Given the description of an element on the screen output the (x, y) to click on. 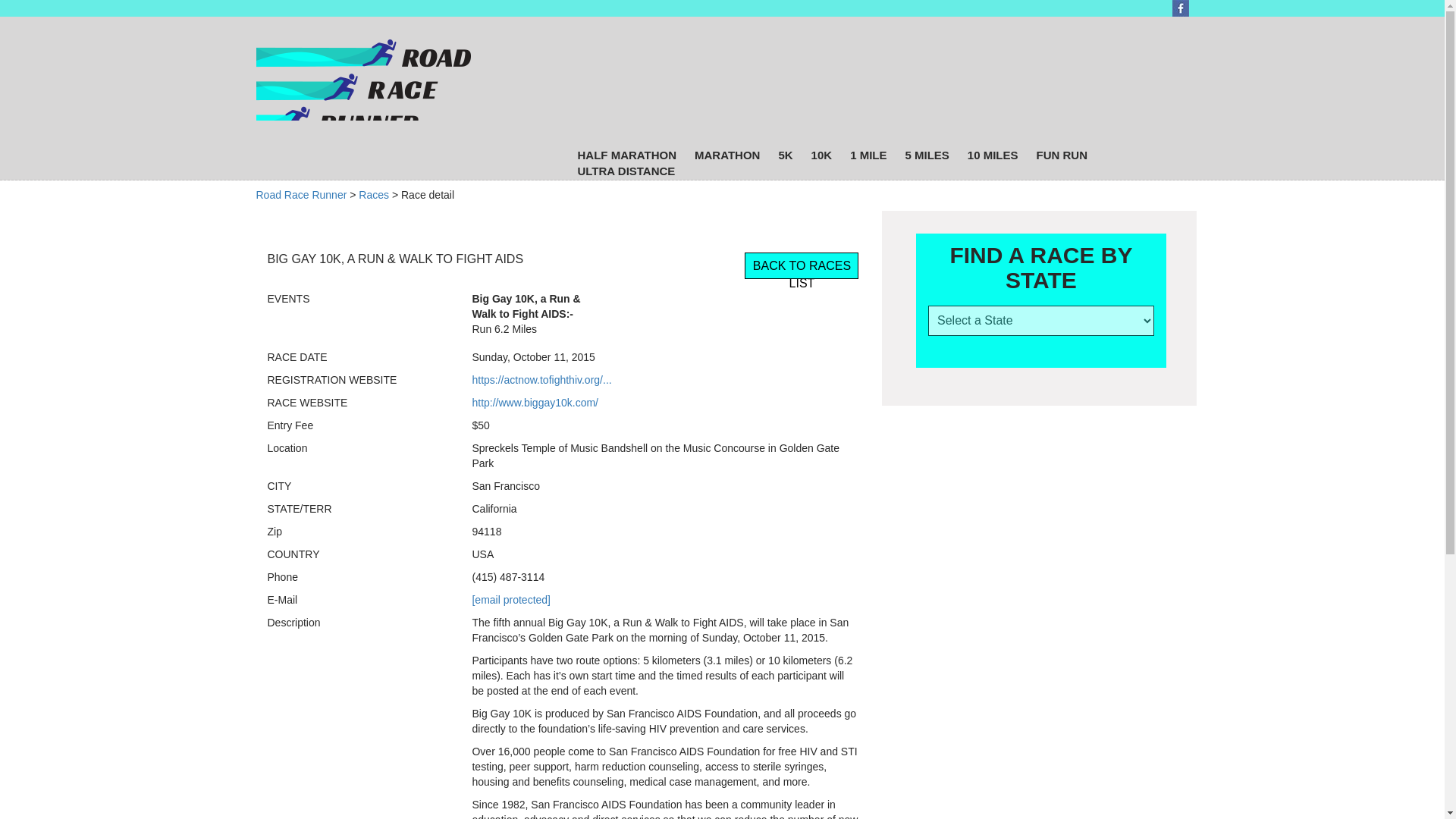
BACK TO RACES LIST (801, 265)
Races (373, 194)
HALF MARATHON (626, 154)
5K (784, 154)
1 MILE (868, 154)
ULTRA DISTANCE (625, 170)
Go to Races. (373, 194)
MARATHON (726, 154)
10 MILES (992, 154)
Go to Road Race Runner. (301, 194)
